Given the description of an element on the screen output the (x, y) to click on. 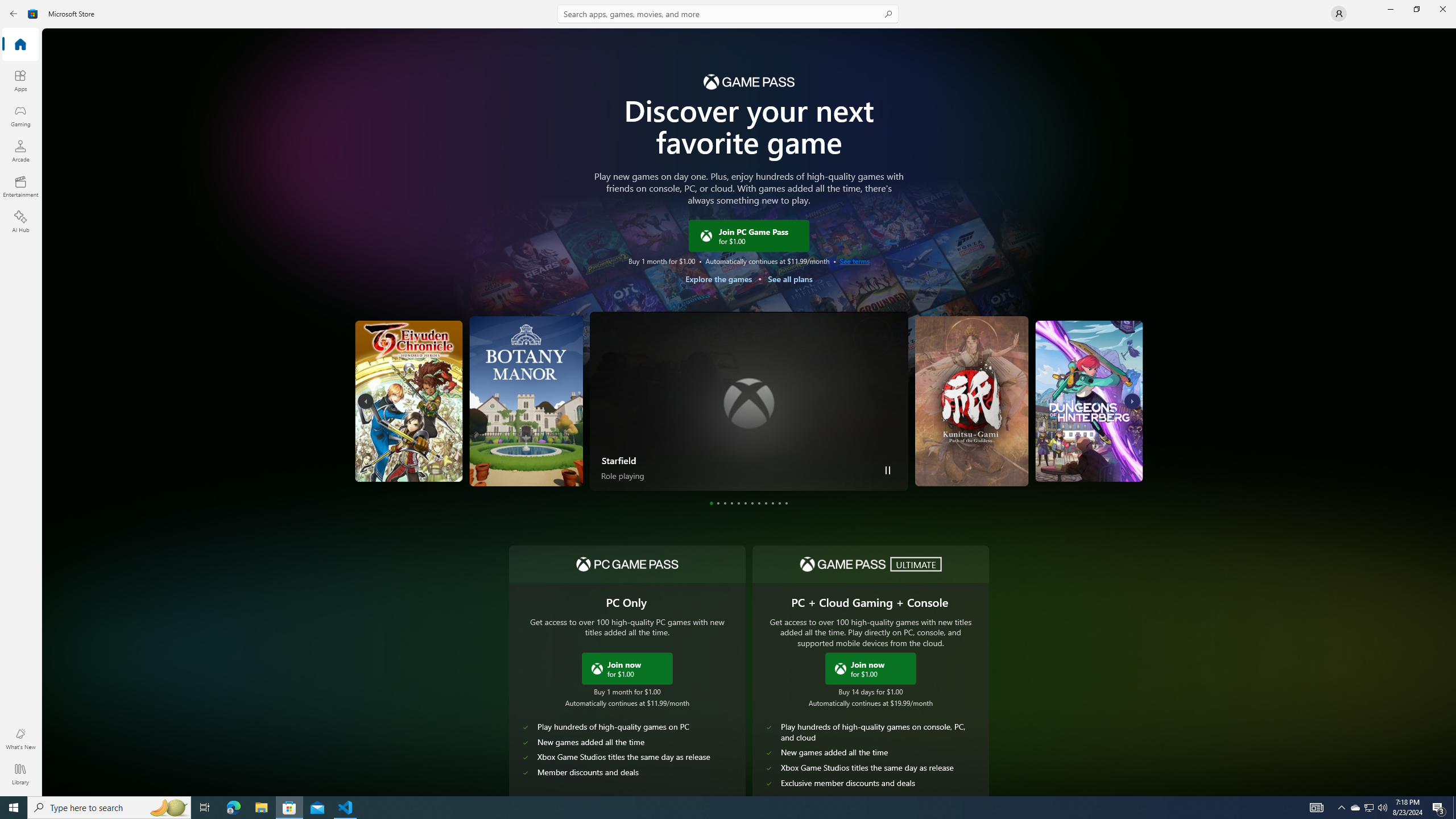
Kunitsu-Gami: Path of the Goddess (900, 456)
Page 8 (758, 503)
Botany Manor (523, 401)
Explore the games (718, 278)
Flintlock: The Siege of Dawn (1105, 401)
Page 11 (779, 503)
AutomationID: NavigationControl (728, 398)
Starfield (748, 401)
Another Crab's Treasure (391, 401)
Back (13, 13)
